Given the description of an element on the screen output the (x, y) to click on. 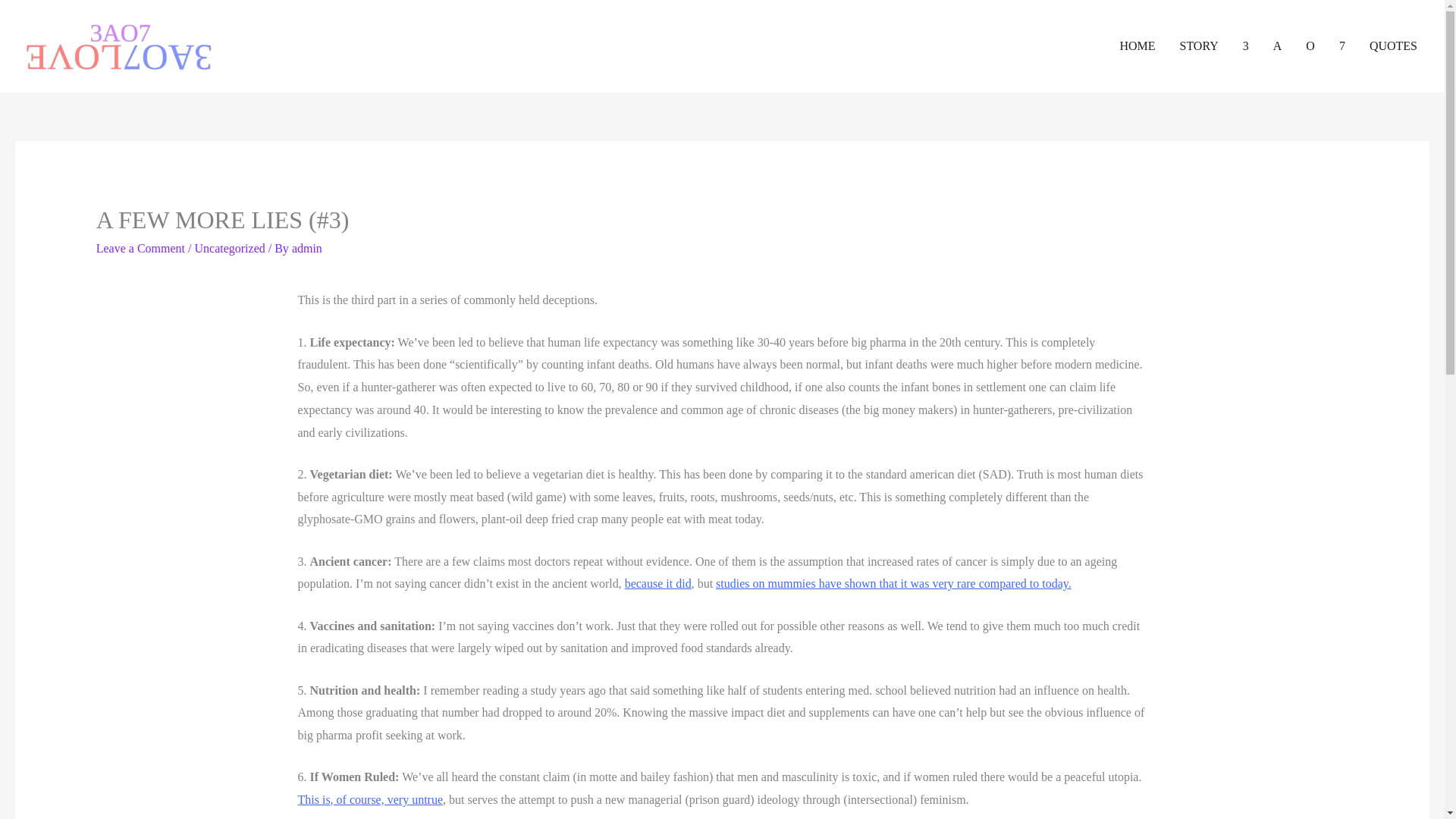
QUOTES (1392, 46)
Leave a Comment (140, 247)
View all posts by admin (306, 247)
HOME (1136, 46)
This is, of course, very untrue (369, 799)
because it did (657, 583)
STORY (1198, 46)
admin (306, 247)
Uncategorized (228, 247)
